Given the description of an element on the screen output the (x, y) to click on. 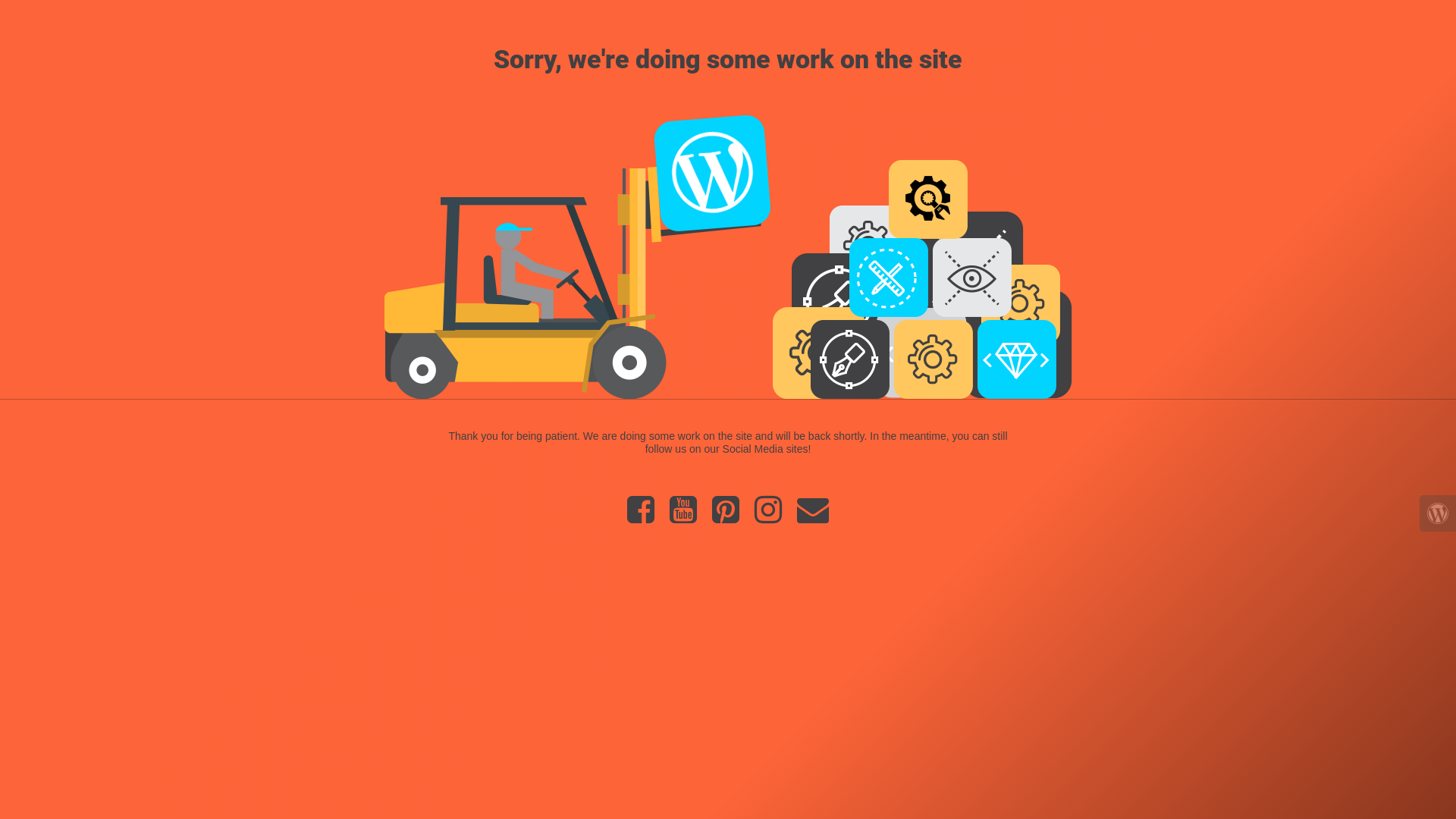
Email Element type: hover (812, 517)
Pinterest Element type: hover (725, 517)
YouTube Element type: hover (683, 517)
Facebook Element type: hover (640, 517)
Forklift at Work Element type: hover (727, 254)
Instagram Element type: hover (767, 517)
